Given the description of an element on the screen output the (x, y) to click on. 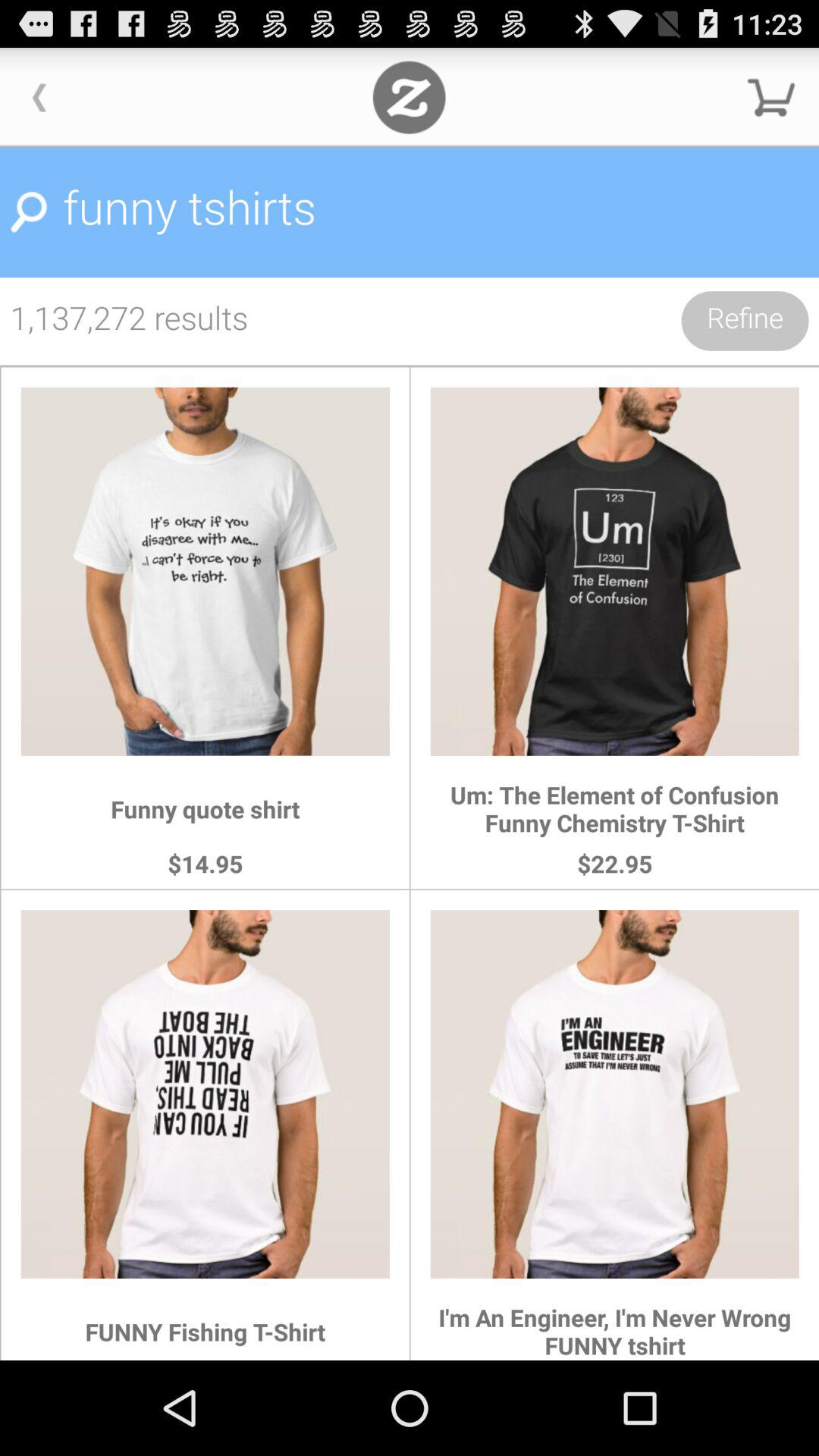
goes back to previous page (39, 97)
